Given the description of an element on the screen output the (x, y) to click on. 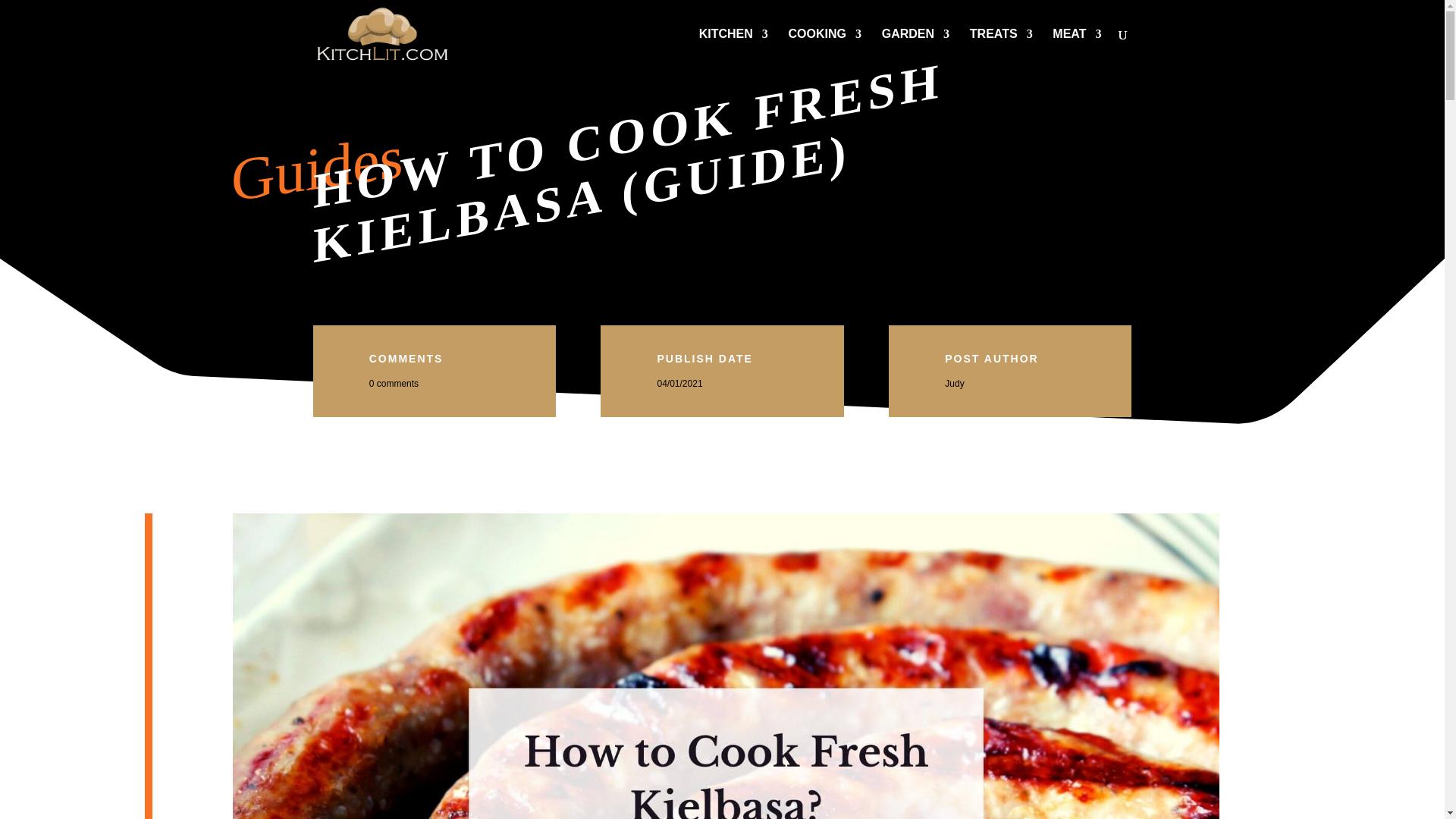
MEAT (1076, 47)
TREATS (1000, 47)
0 comments (394, 383)
GARDEN (915, 47)
Guides (316, 155)
KITCHEN (733, 47)
COOKING (825, 47)
